Given the description of an element on the screen output the (x, y) to click on. 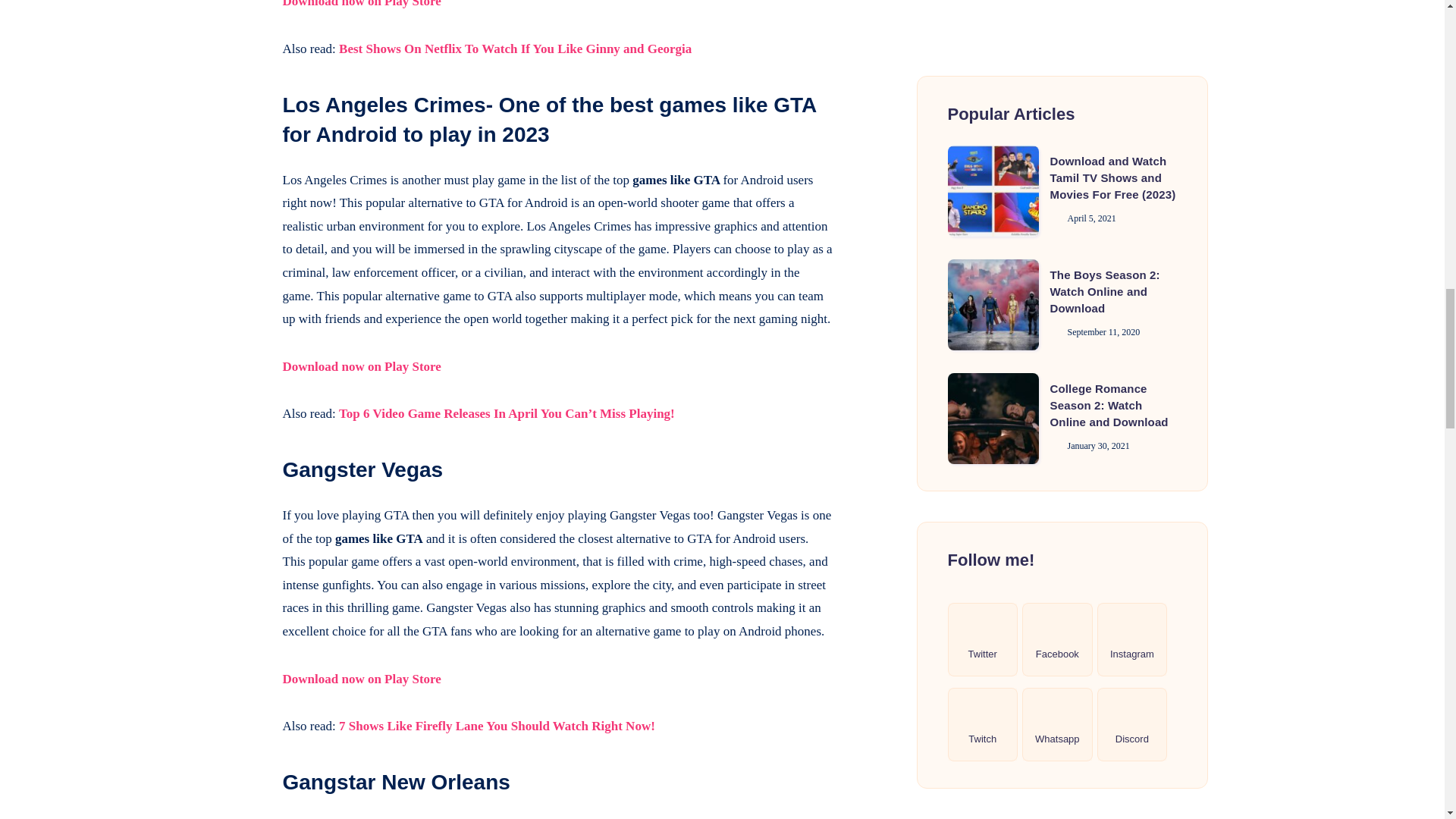
Download now on Play Store (361, 366)
Best Shows On Netflix To Watch If You Like Ginny and Georgia (515, 48)
7 Shows Like Firefly Lane You Should Watch Right Now! (497, 726)
Download now on Play Store (361, 4)
Download now on Play Store (361, 678)
